Given the description of an element on the screen output the (x, y) to click on. 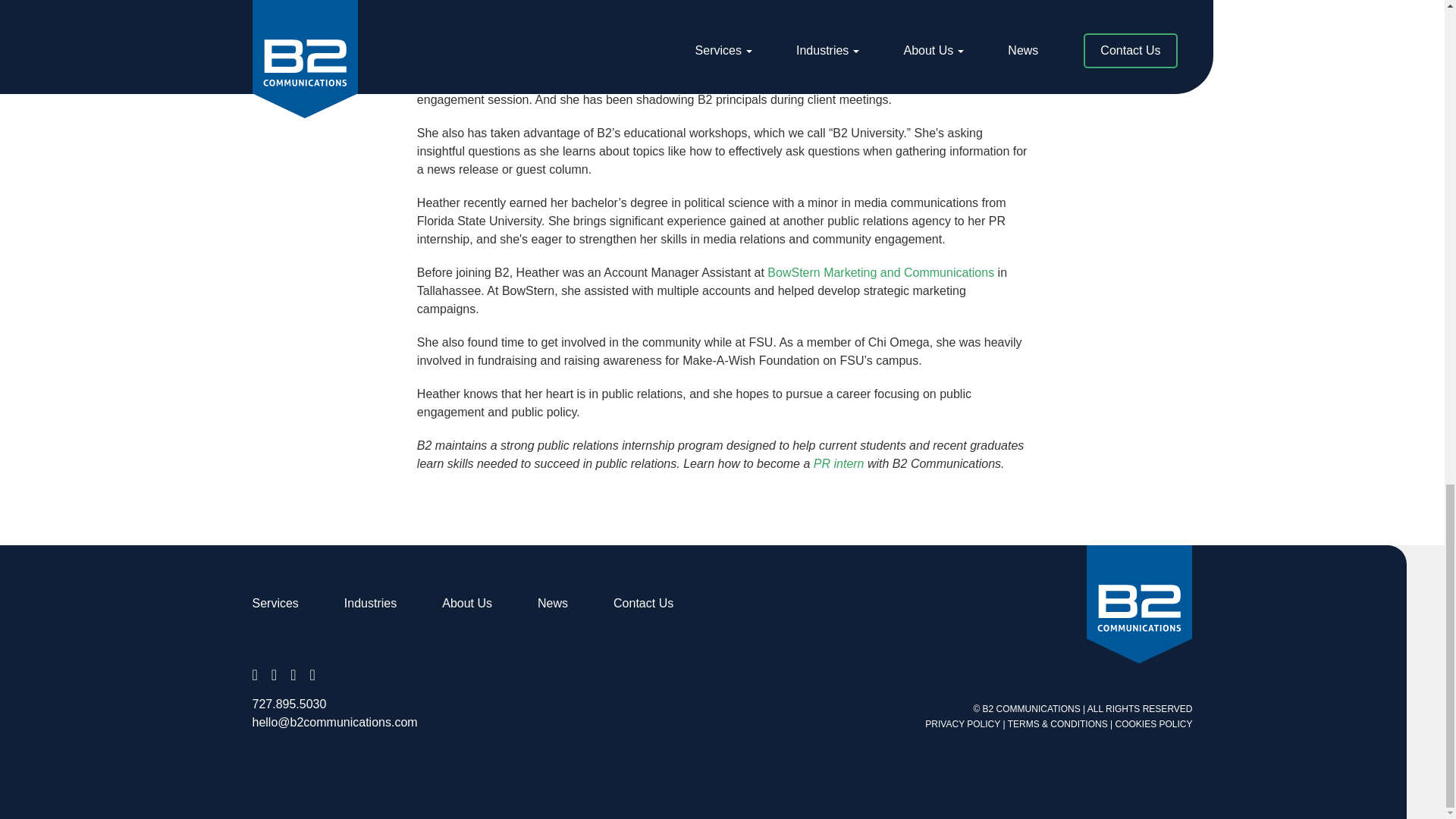
727.895.5030 (288, 703)
Services (274, 603)
PR intern (838, 463)
Heather Ball (717, 11)
About Us (467, 603)
BowStern Marketing and Communications (880, 272)
PRIVACY POLICY (962, 724)
B2 Communications (1139, 604)
Industries (369, 603)
Contact Us (642, 603)
